Given the description of an element on the screen output the (x, y) to click on. 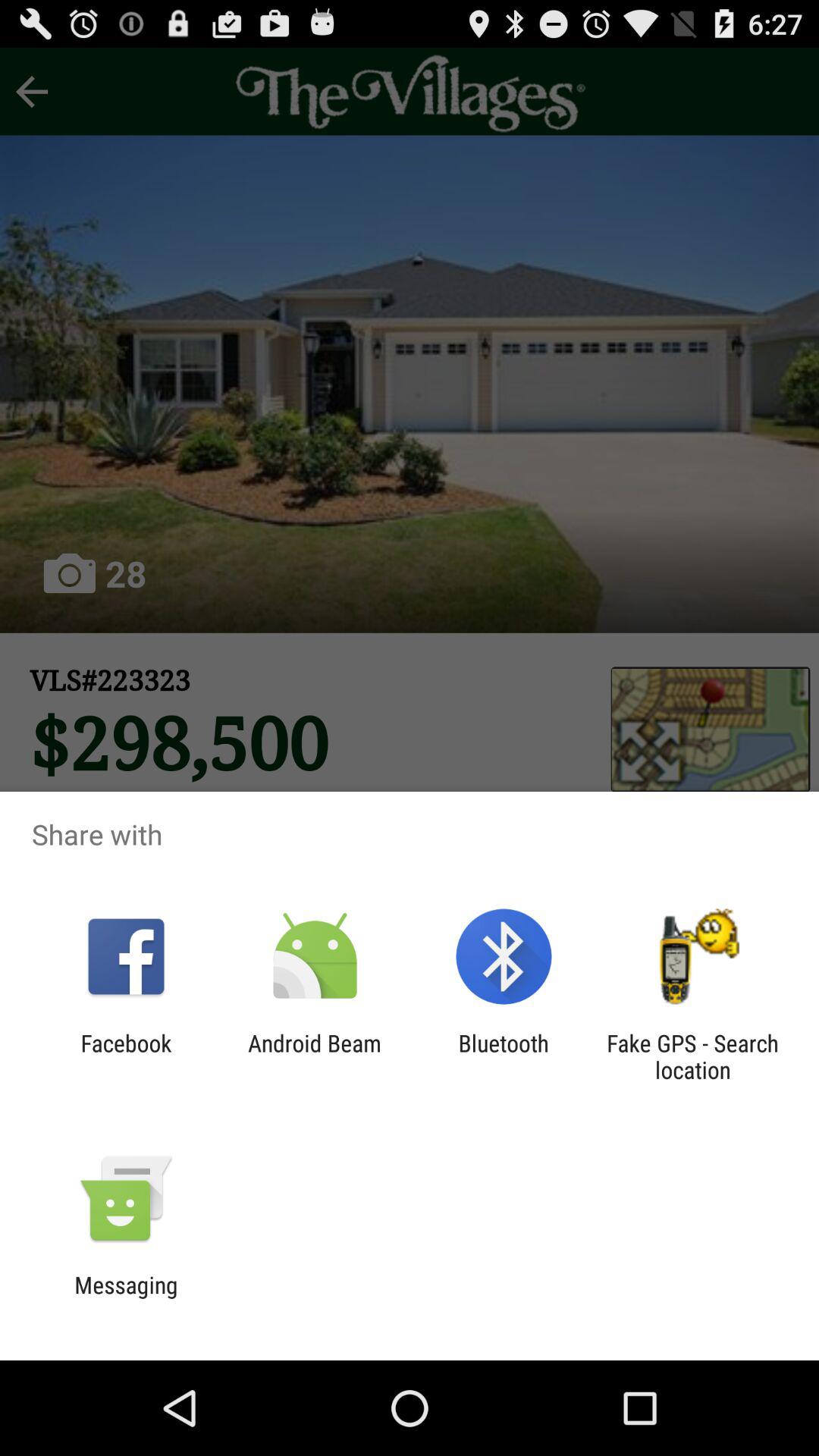
press app to the right of android beam icon (503, 1056)
